Given the description of an element on the screen output the (x, y) to click on. 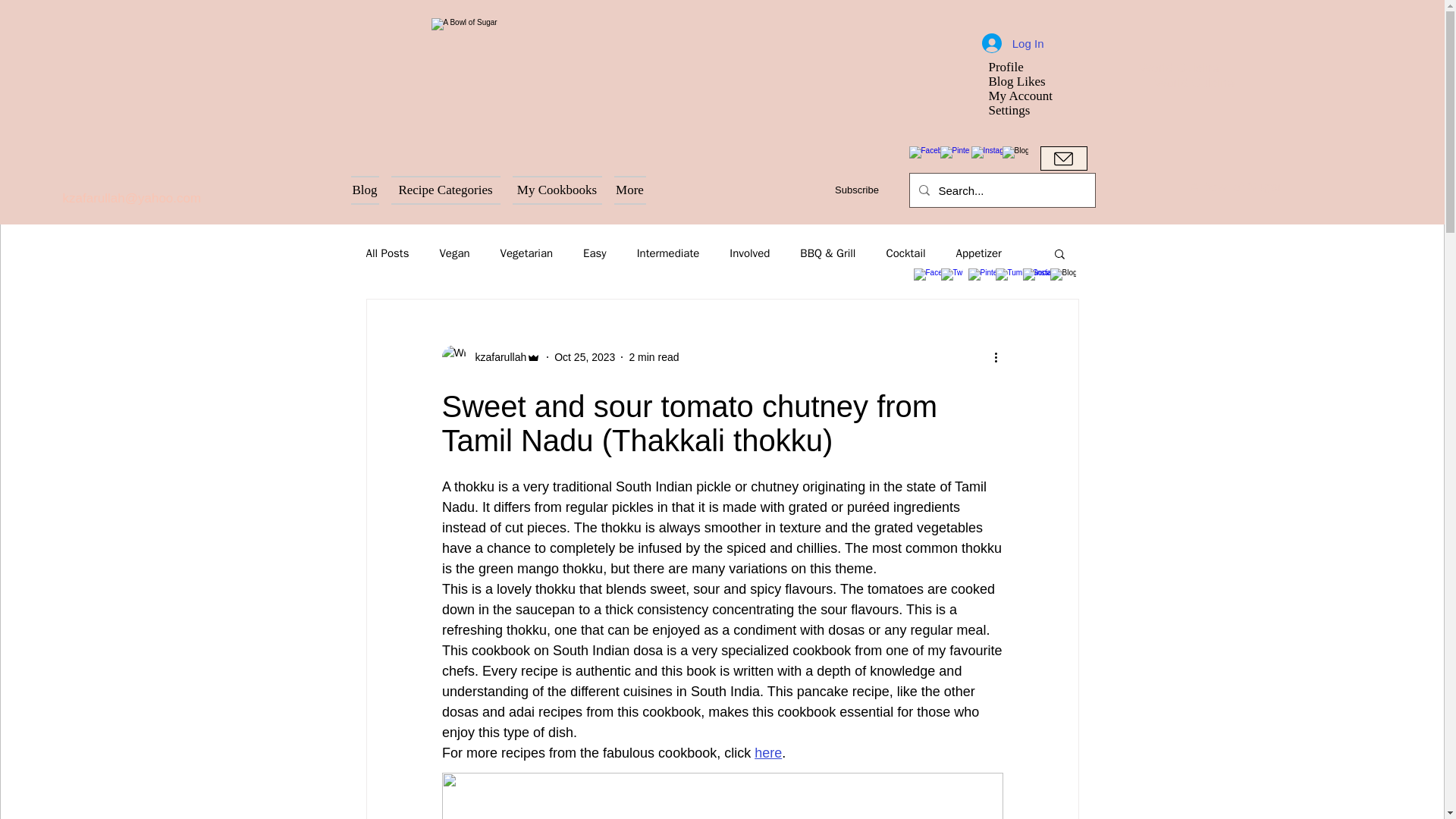
My Cookbooks (557, 190)
My Account (1026, 95)
Settings (1026, 110)
kzafarullah (495, 356)
All Posts (387, 252)
2 min read (653, 356)
Blog (367, 190)
Involved (749, 252)
Profile (1026, 66)
Blog Likes (1026, 81)
